Given the description of an element on the screen output the (x, y) to click on. 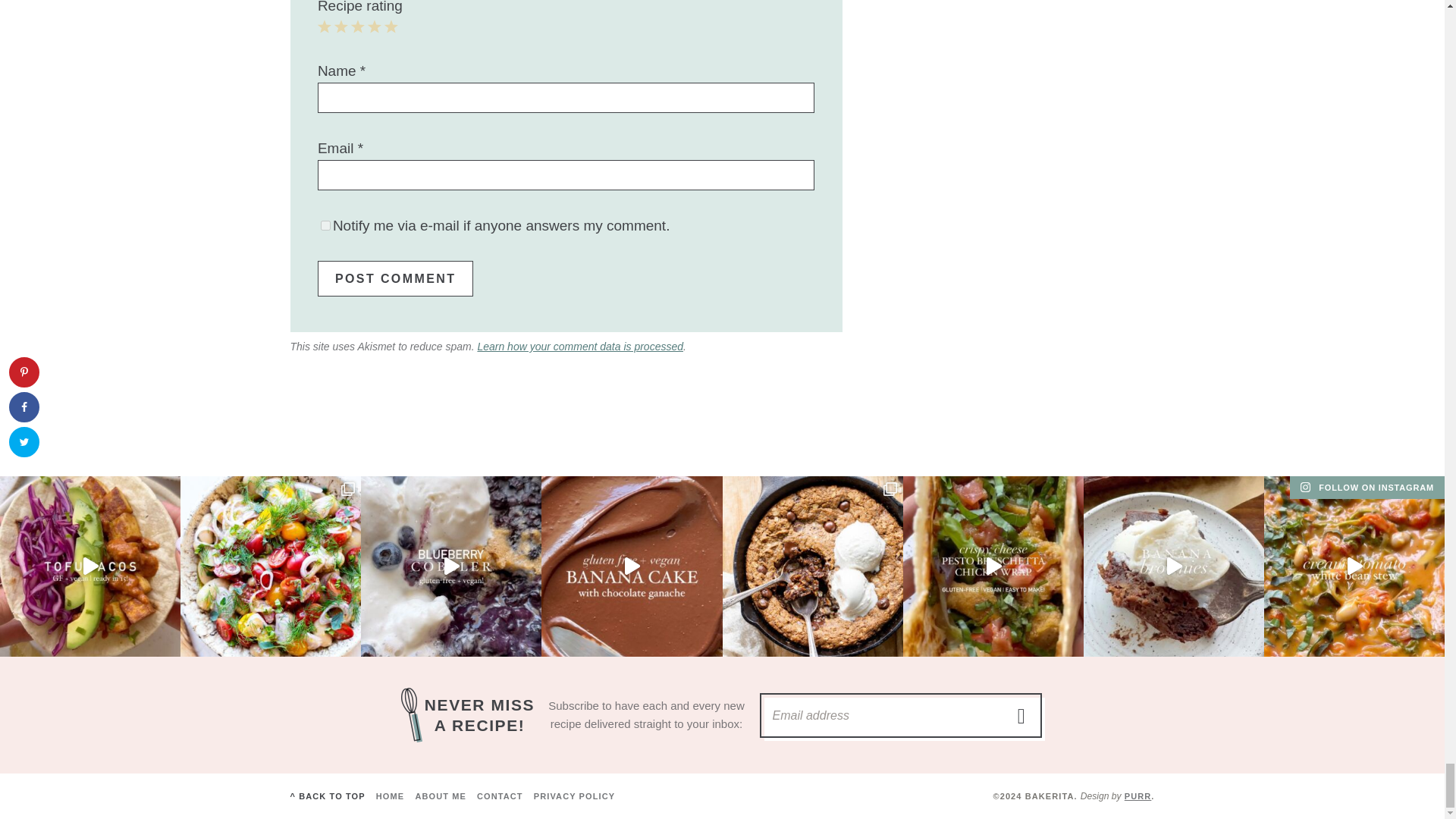
on (325, 225)
Post Comment (395, 278)
